Given the description of an element on the screen output the (x, y) to click on. 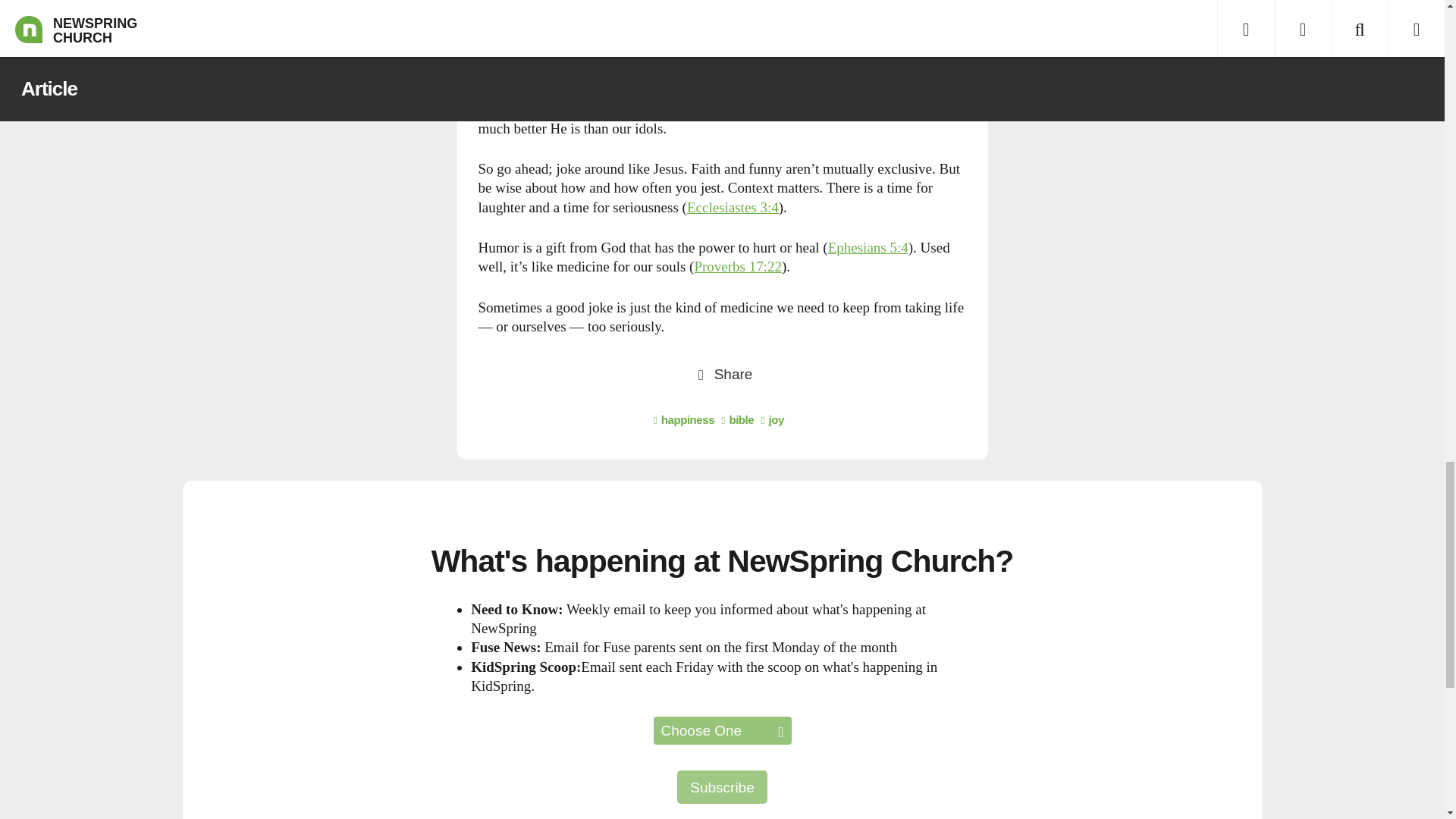
Subscribe (722, 786)
Bible Gateway (868, 247)
Bible Gateway (737, 266)
Proverbs 17:22 (737, 266)
joy (772, 419)
Bible Gateway (732, 207)
happiness (683, 419)
Ecclesiastes 3:4 (732, 207)
bible (737, 419)
Ephesians 5:4 (868, 247)
Share (721, 373)
